Given the description of an element on the screen output the (x, y) to click on. 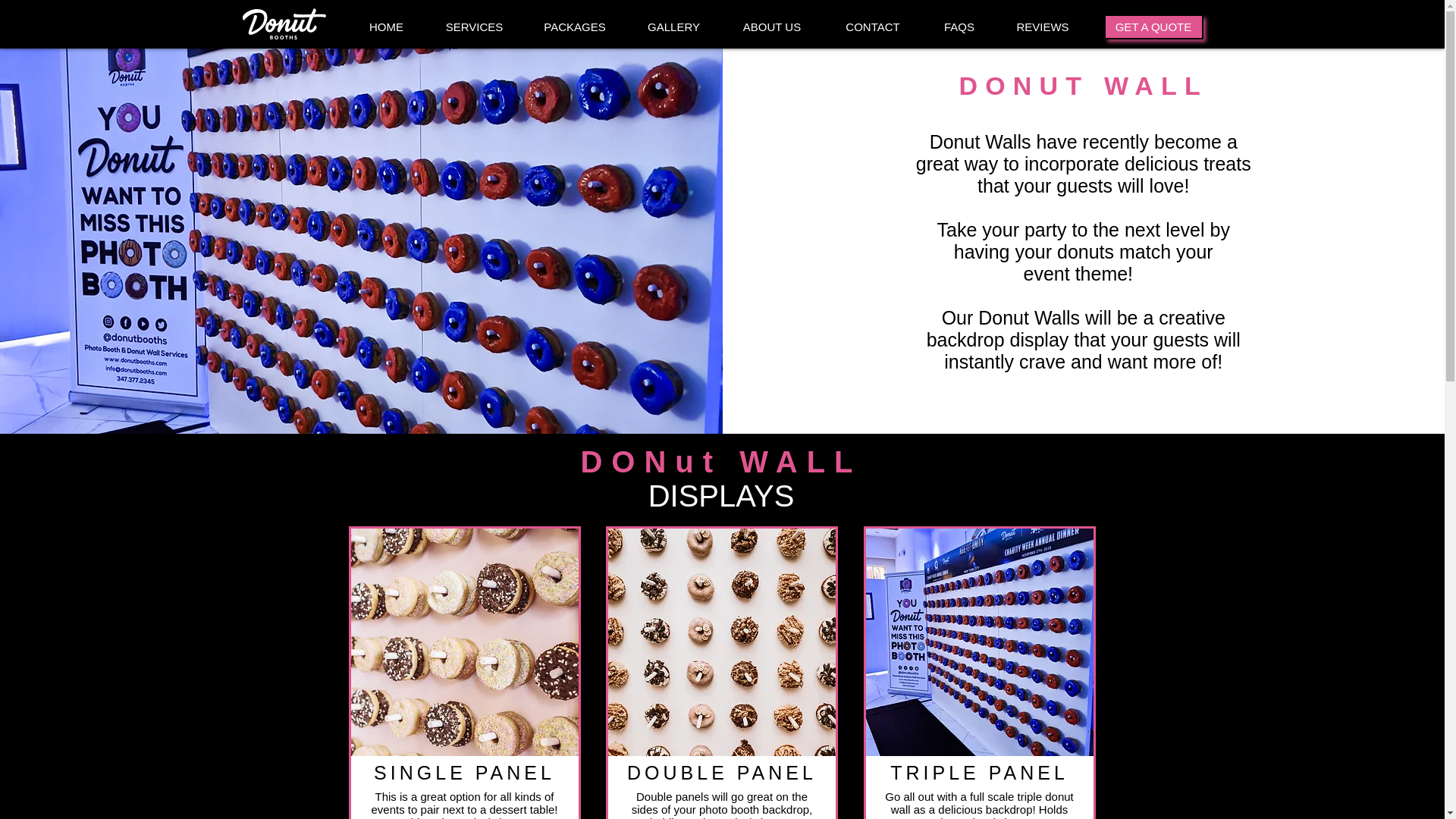
FAQS (958, 26)
GALLERY (673, 26)
ABOUT US (771, 26)
SERVICES (473, 26)
REVIEWS (1041, 26)
GET A QUOTE (1153, 26)
CONTACT (872, 26)
HOME (386, 26)
